Given the description of an element on the screen output the (x, y) to click on. 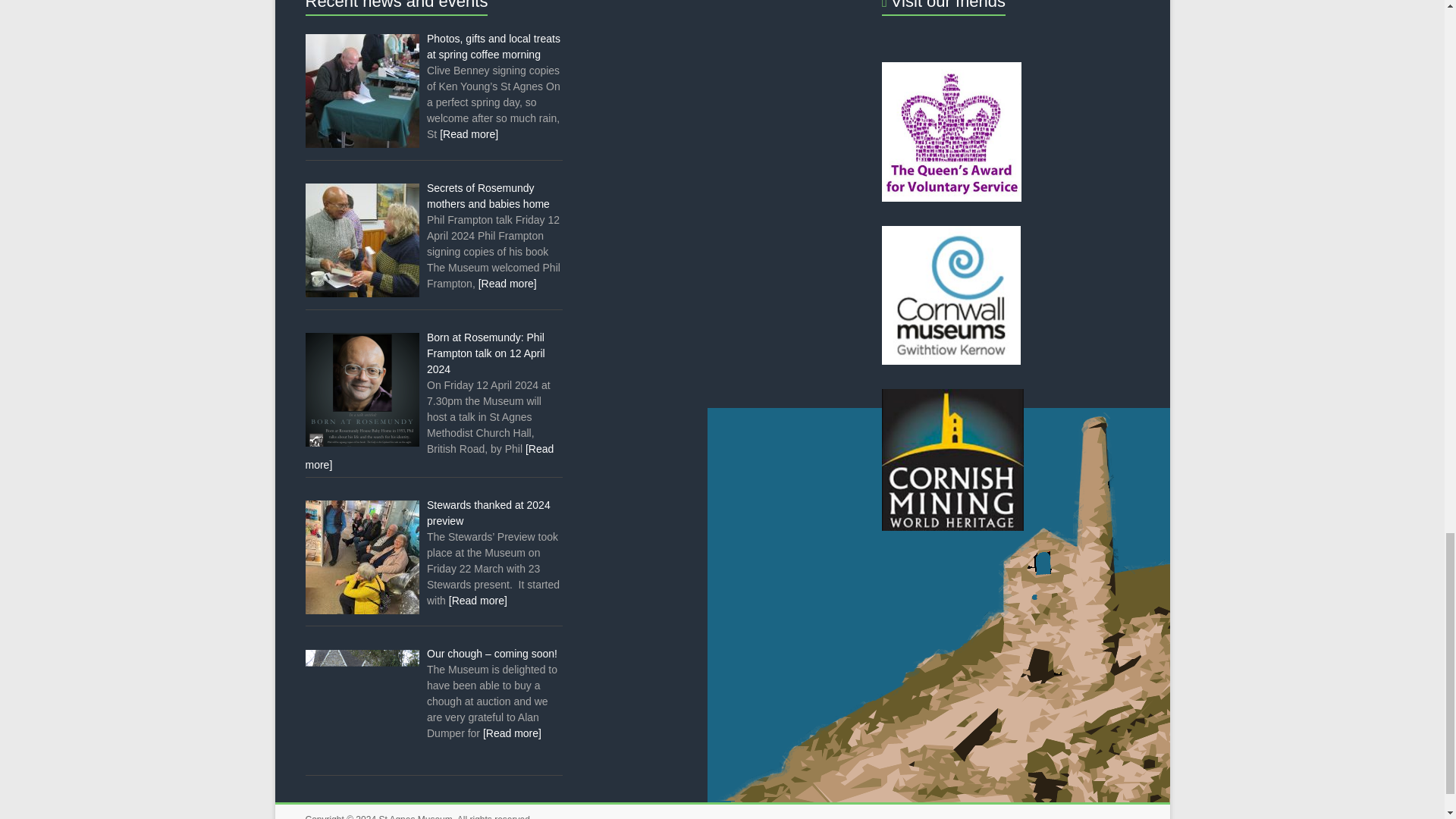
Photos, gifts and local treats at spring coffee morning (493, 46)
Born at Rosemundy: Phil Frampton talk on 12 April 2024 (485, 353)
St Agnes Museum (414, 816)
Stewards thanked at 2024 preview (488, 512)
Secrets of Rosemundy mothers and babies home (488, 195)
St Agnes Museum (414, 816)
